Given the description of an element on the screen output the (x, y) to click on. 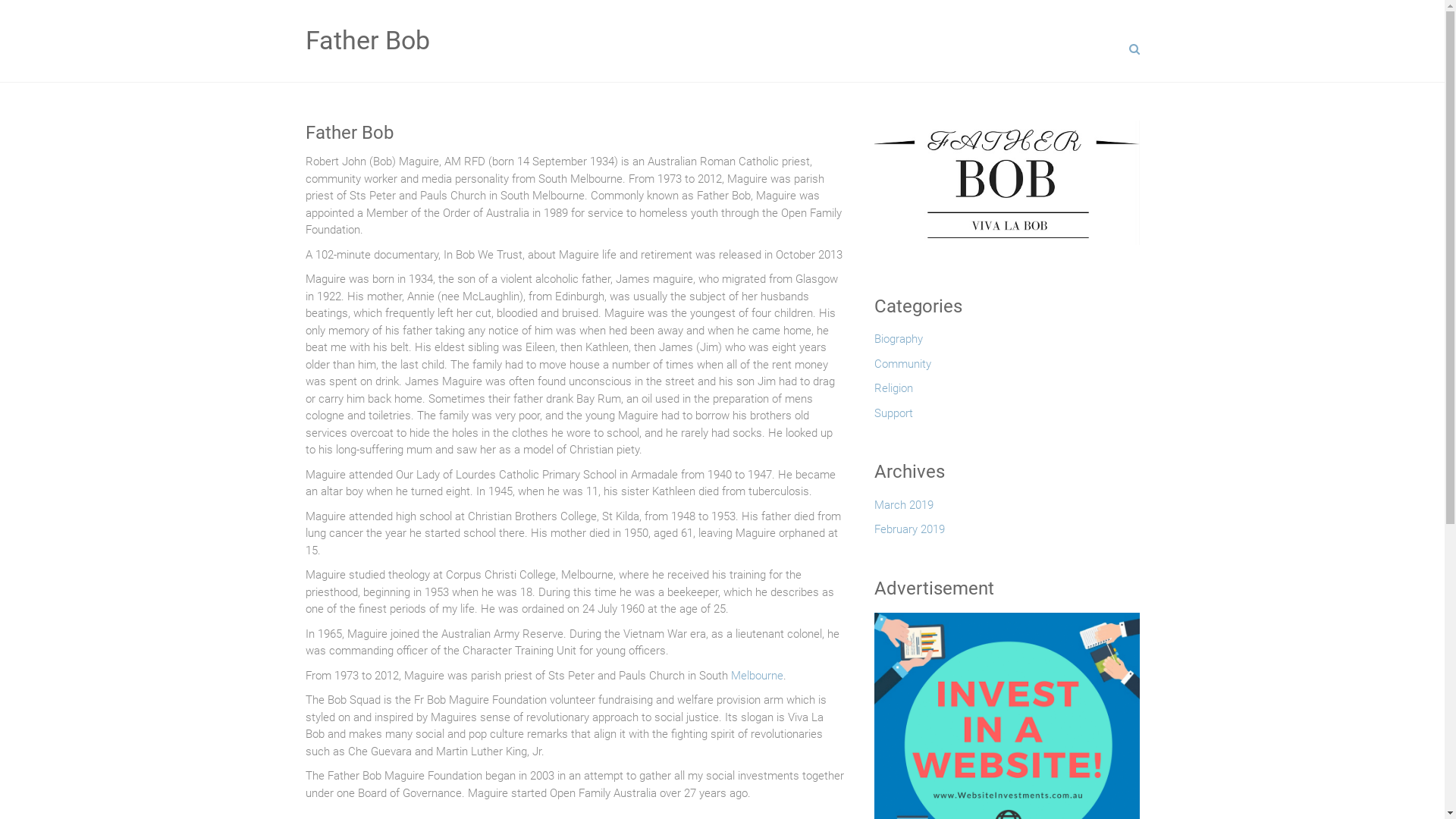
Father Bob Element type: text (366, 40)
March 2019 Element type: text (902, 508)
Father Bob Element type: text (573, 133)
Support Element type: text (892, 416)
Biography Element type: text (897, 342)
Melbourne Element type: text (757, 675)
February 2019 Element type: text (908, 533)
Religion Element type: text (892, 391)
Community Element type: text (901, 367)
